Given the description of an element on the screen output the (x, y) to click on. 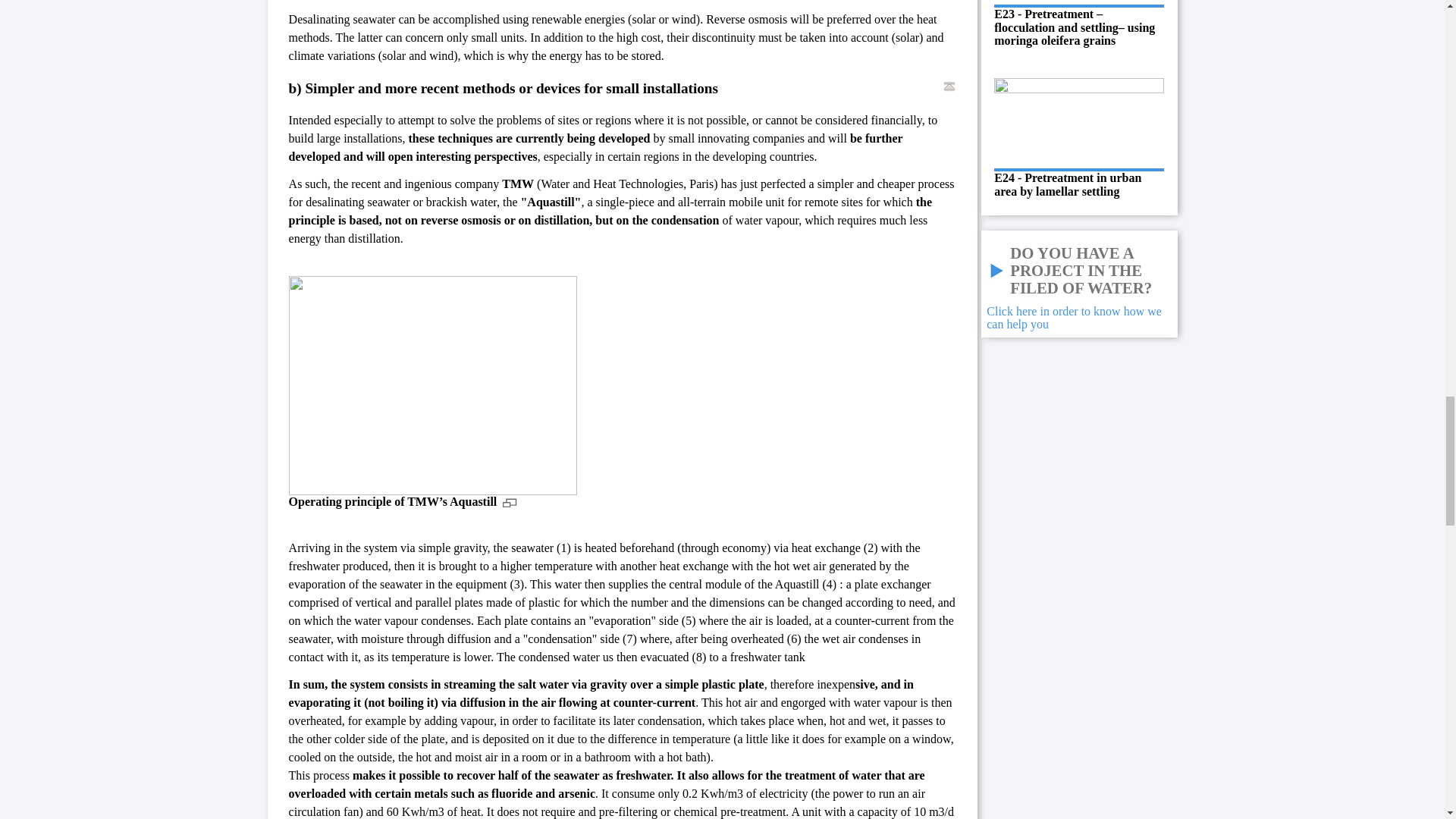
Back to the table of contents (949, 86)
Agrandir (509, 501)
